Given the description of an element on the screen output the (x, y) to click on. 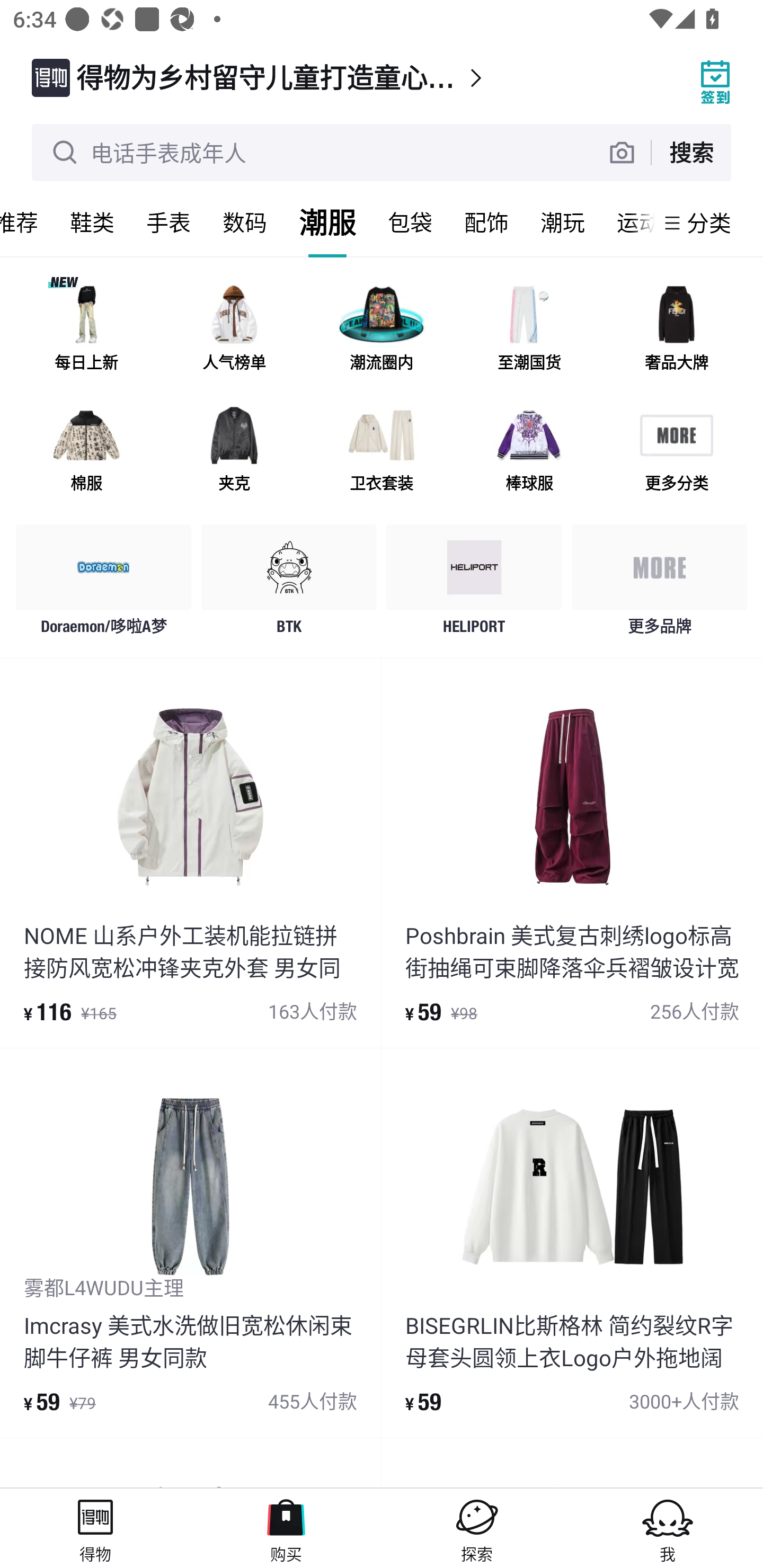
搜索 (690, 152)
鞋类 (92, 222)
手表 (168, 222)
数码 (244, 222)
潮服 (327, 222)
包袋 (410, 222)
配饰 (486, 222)
潮玩 (562, 222)
分类 (708, 222)
每日上新 (86, 329)
人气榜单 (233, 329)
潮流圈内 (381, 329)
至潮国货 (528, 329)
奢品大牌 (676, 329)
棉服 (86, 450)
夹克 (233, 450)
卫衣套装 (381, 450)
棒球服 (528, 450)
更多分类 (676, 450)
Doraemon/哆啦A梦 (103, 583)
BTK (288, 583)
HELIPORT (473, 583)
更多品牌 (658, 583)
得物 (95, 1528)
购买 (285, 1528)
探索 (476, 1528)
我 (667, 1528)
